Given the description of an element on the screen output the (x, y) to click on. 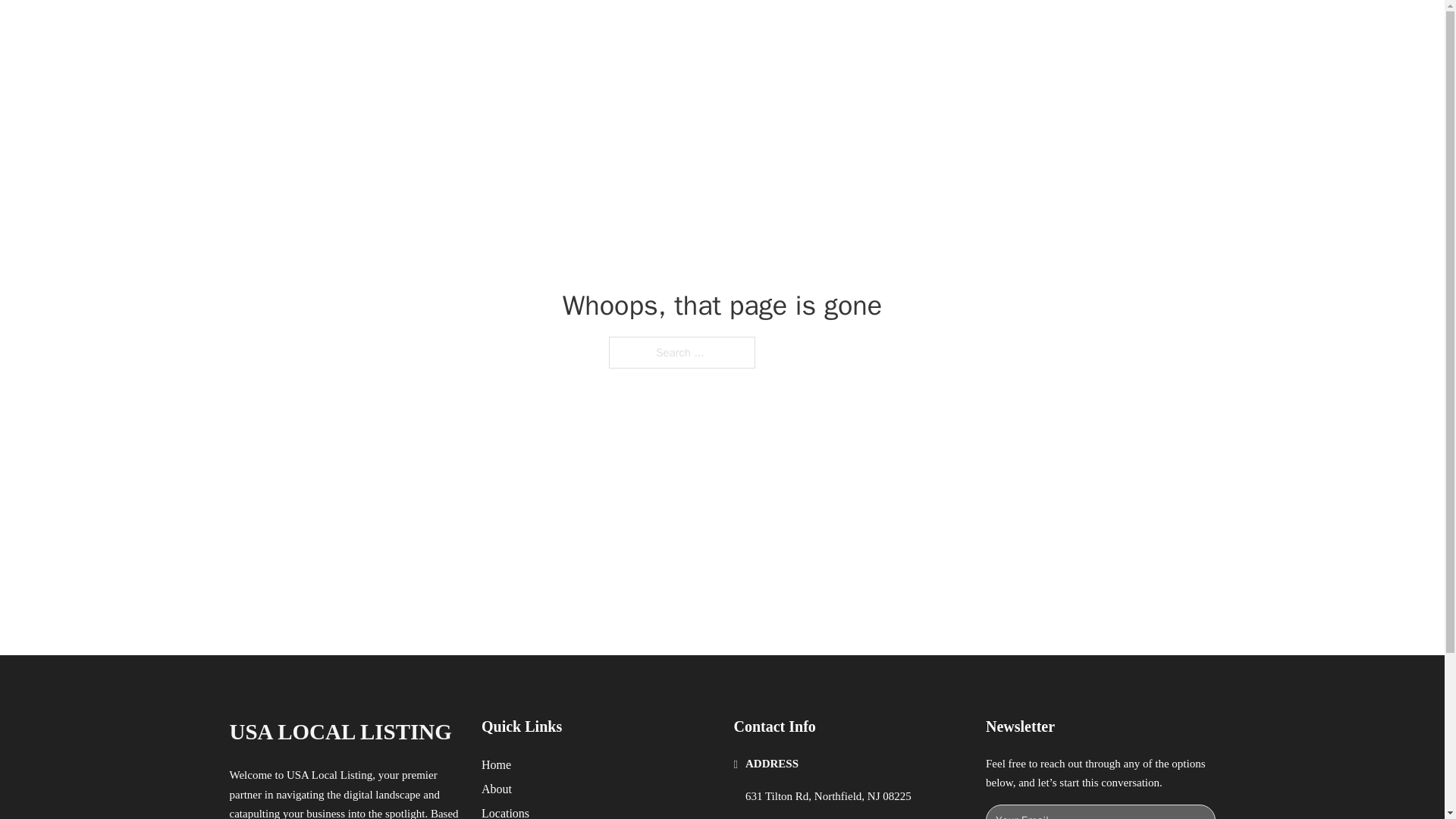
About (496, 788)
Home (496, 764)
Locations (505, 811)
USA LOCAL LISTING (339, 732)
HOME (919, 29)
LOCATIONS (990, 29)
USA LOCAL LISTING (408, 28)
